Given the description of an element on the screen output the (x, y) to click on. 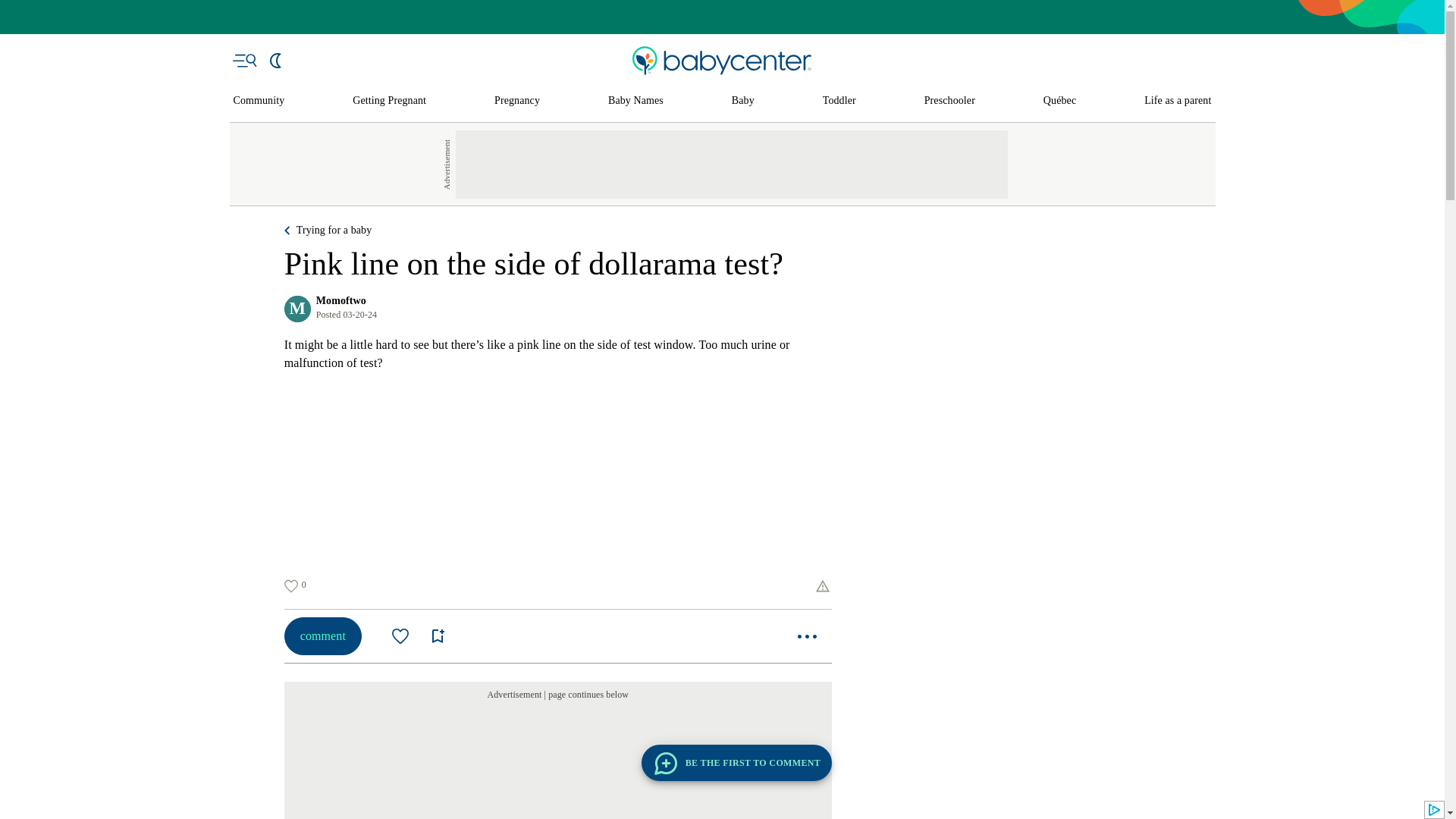
Baby (743, 101)
Pregnancy (517, 101)
Life as a parent (1177, 101)
Getting Pregnant (389, 101)
Toddler (839, 101)
Community (258, 101)
Preschooler (949, 101)
Baby Names (635, 101)
